Given the description of an element on the screen output the (x, y) to click on. 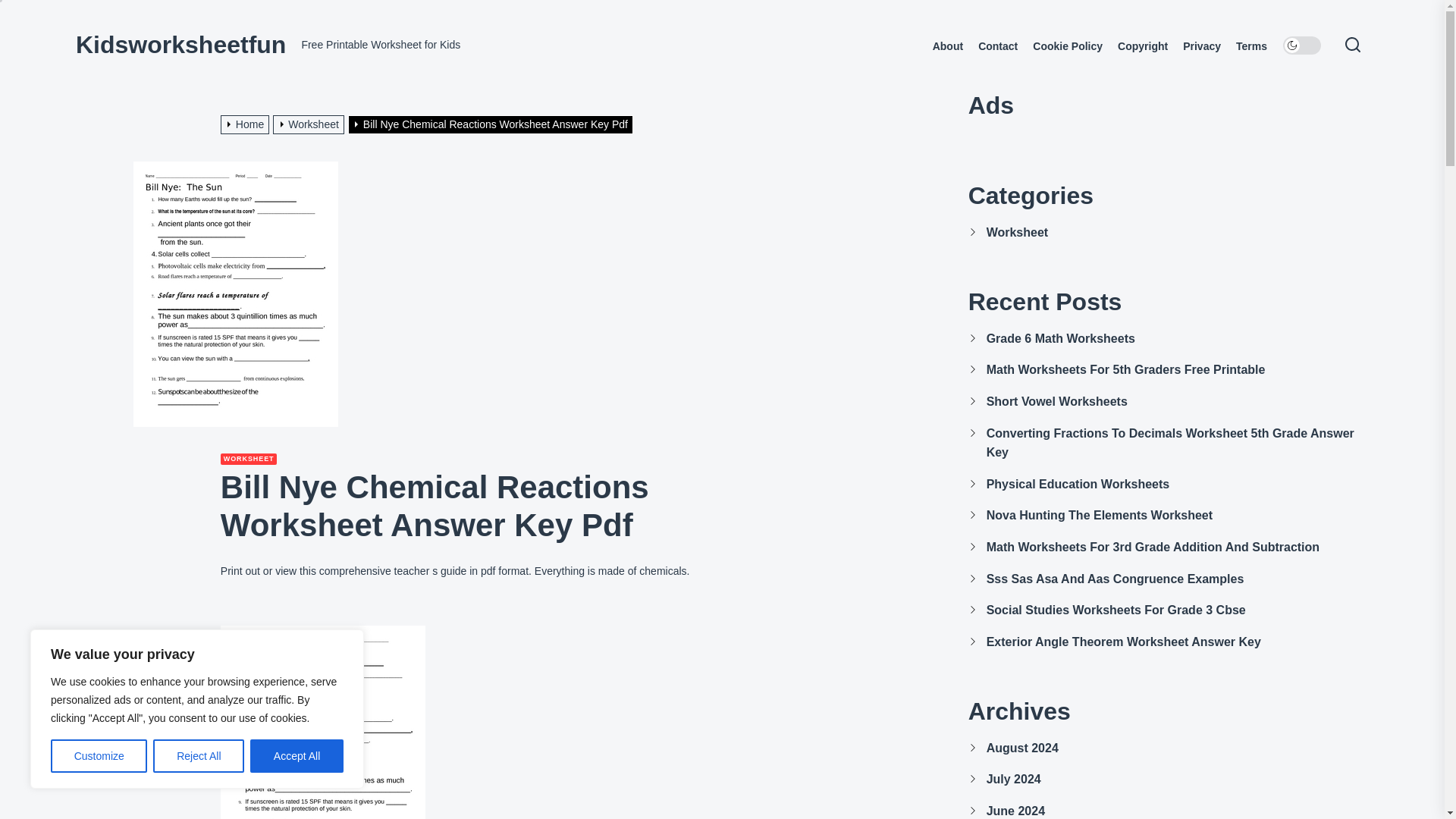
About (947, 46)
Bill Nye Chemical Reactions Worksheet Answer Key Pdf (492, 123)
Home (247, 123)
Copyright (1142, 46)
WORKSHEET (249, 459)
Privacy (1201, 46)
Terms (1251, 46)
Accept All (296, 756)
Worksheet (310, 123)
Contact (997, 46)
